Given the description of an element on the screen output the (x, y) to click on. 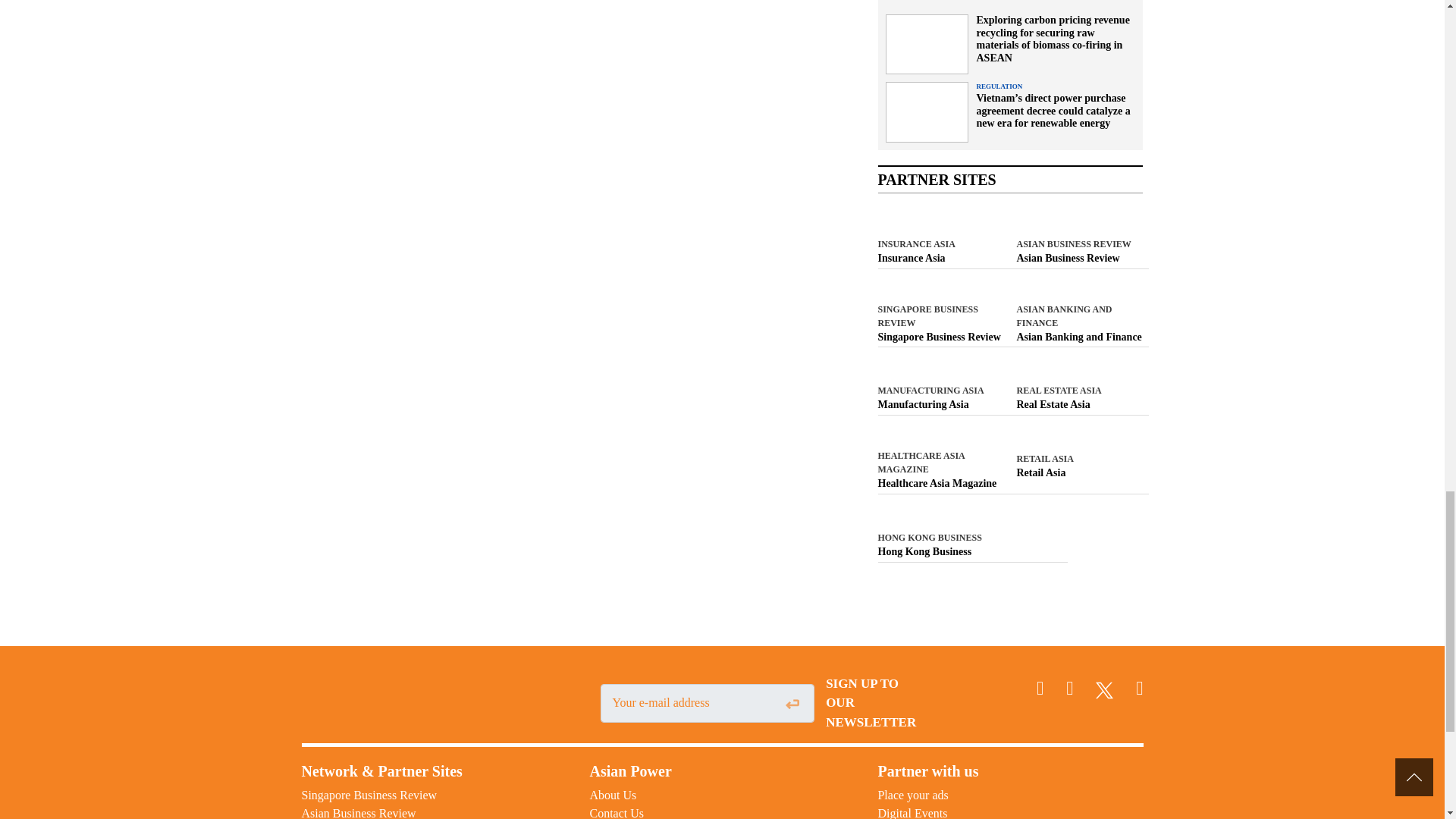
Life insurance reduces mortality risks in China (1079, 258)
Which REITs will benefit most from rate cuts? (940, 337)
Life insurance reduces mortality risks in China (940, 258)
